Given the description of an element on the screen output the (x, y) to click on. 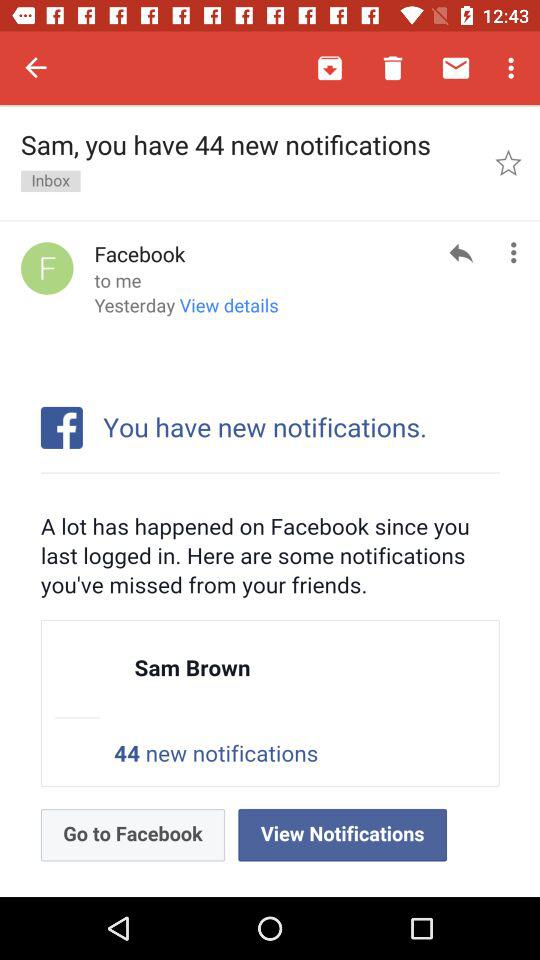
tap the icon below the to me item (186, 312)
